Given the description of an element on the screen output the (x, y) to click on. 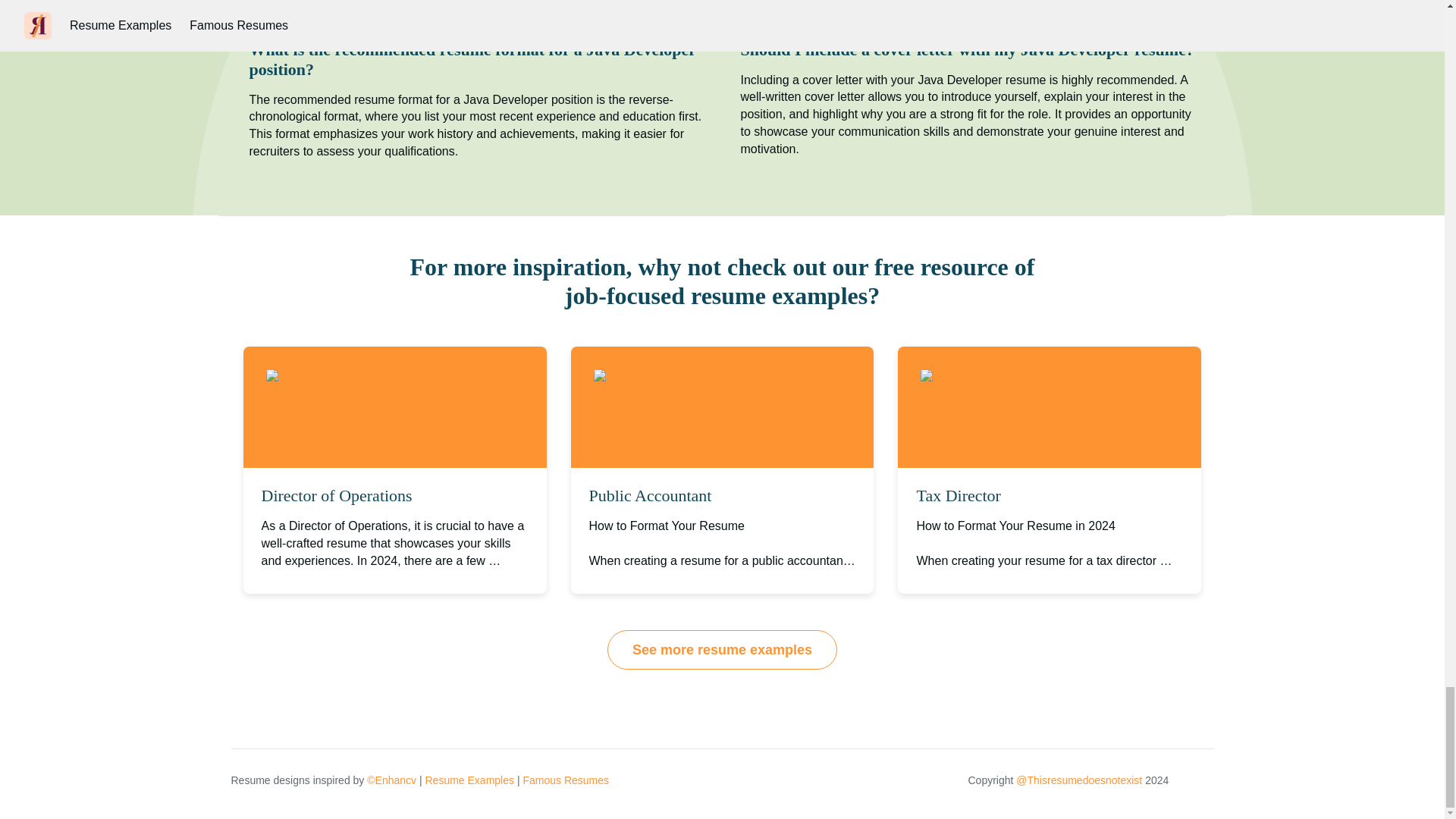
Resume Examples (469, 779)
Tax Director's resume (995, 376)
Famous Resumes (565, 779)
Public Accountant's resume (681, 376)
Director of Operations's resume (364, 376)
See more resume examples (722, 649)
